Given the description of an element on the screen output the (x, y) to click on. 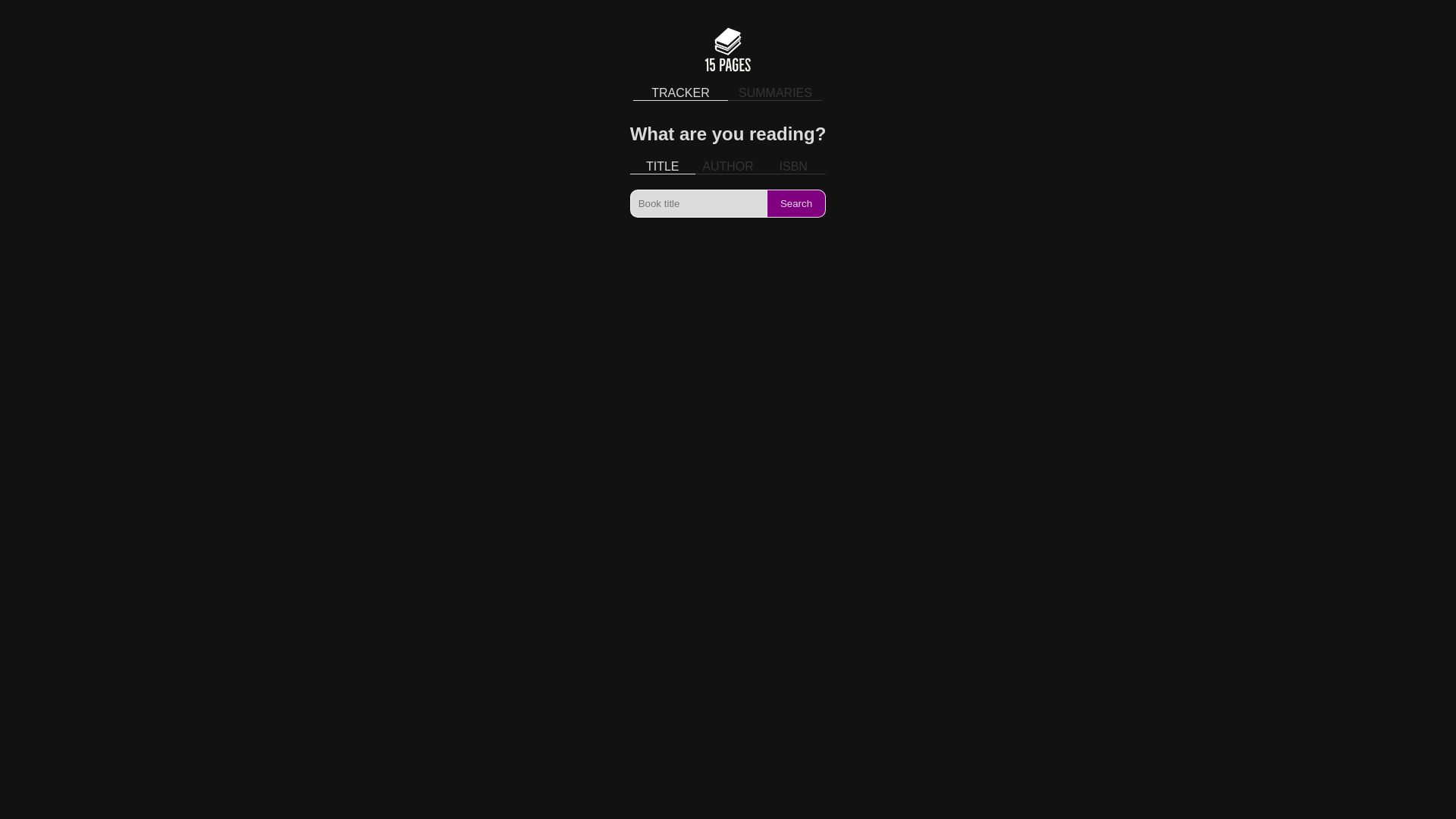
TRACKER Element type: text (680, 93)
SUMMARIES Element type: text (775, 93)
Search Element type: text (796, 203)
